Given the description of an element on the screen output the (x, y) to click on. 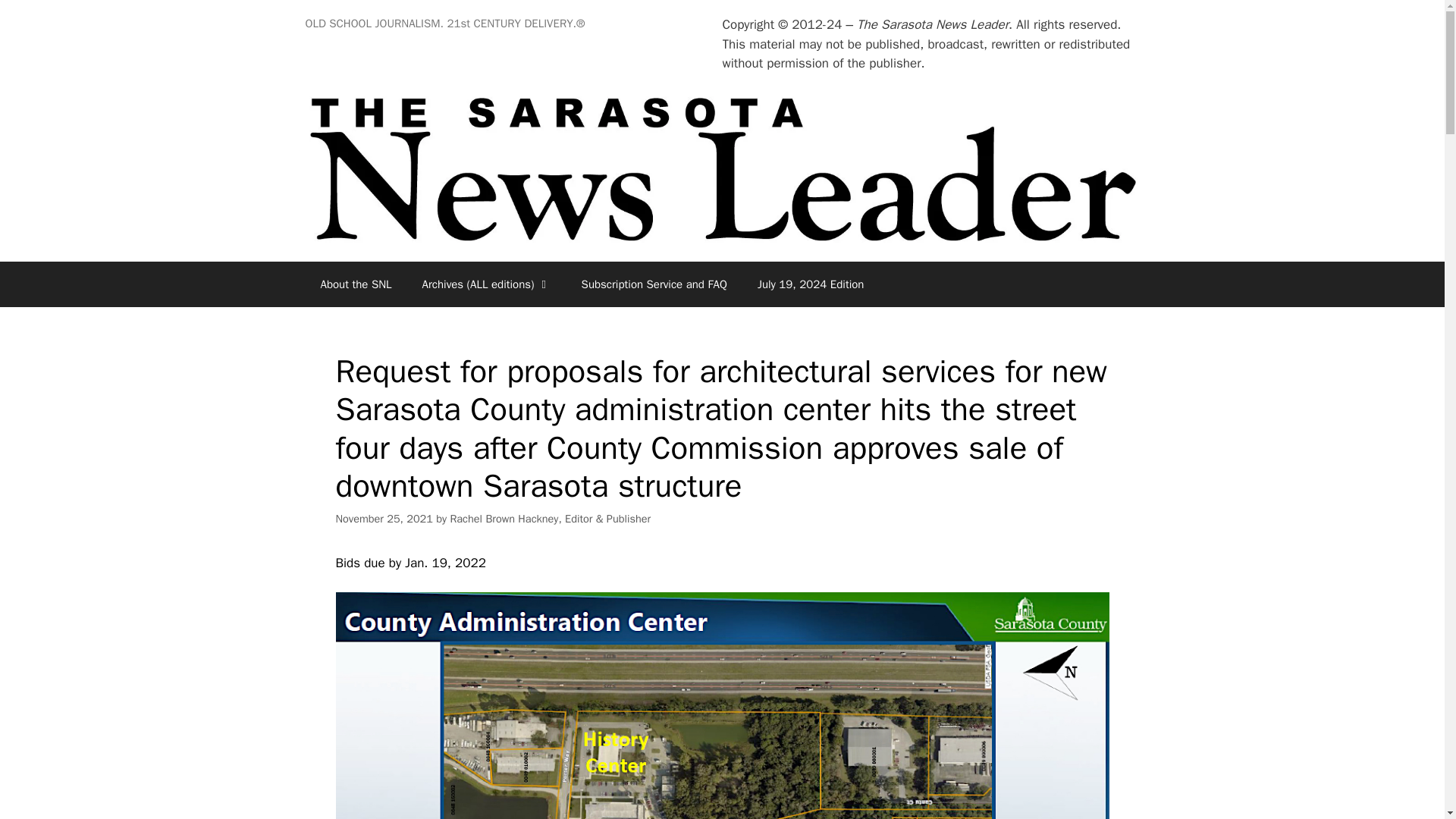
About the SNL (355, 284)
